Given the description of an element on the screen output the (x, y) to click on. 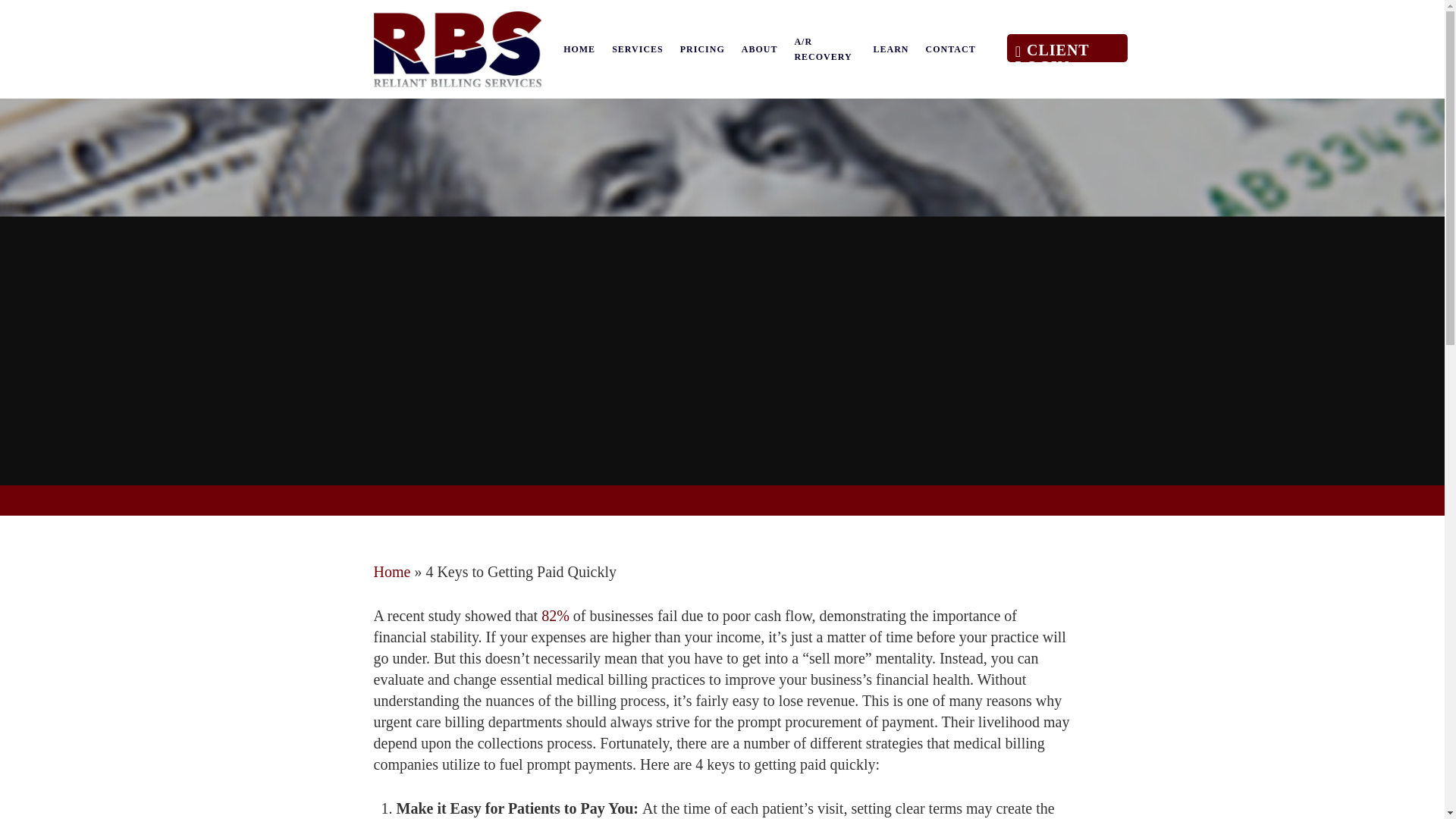
PRICING (702, 48)
Home (391, 571)
HOME (579, 48)
SERVICES (637, 48)
CLIENT LOGIN (1066, 47)
CONTACT (951, 48)
LEARN (891, 48)
ABOUT (759, 48)
